Given the description of an element on the screen output the (x, y) to click on. 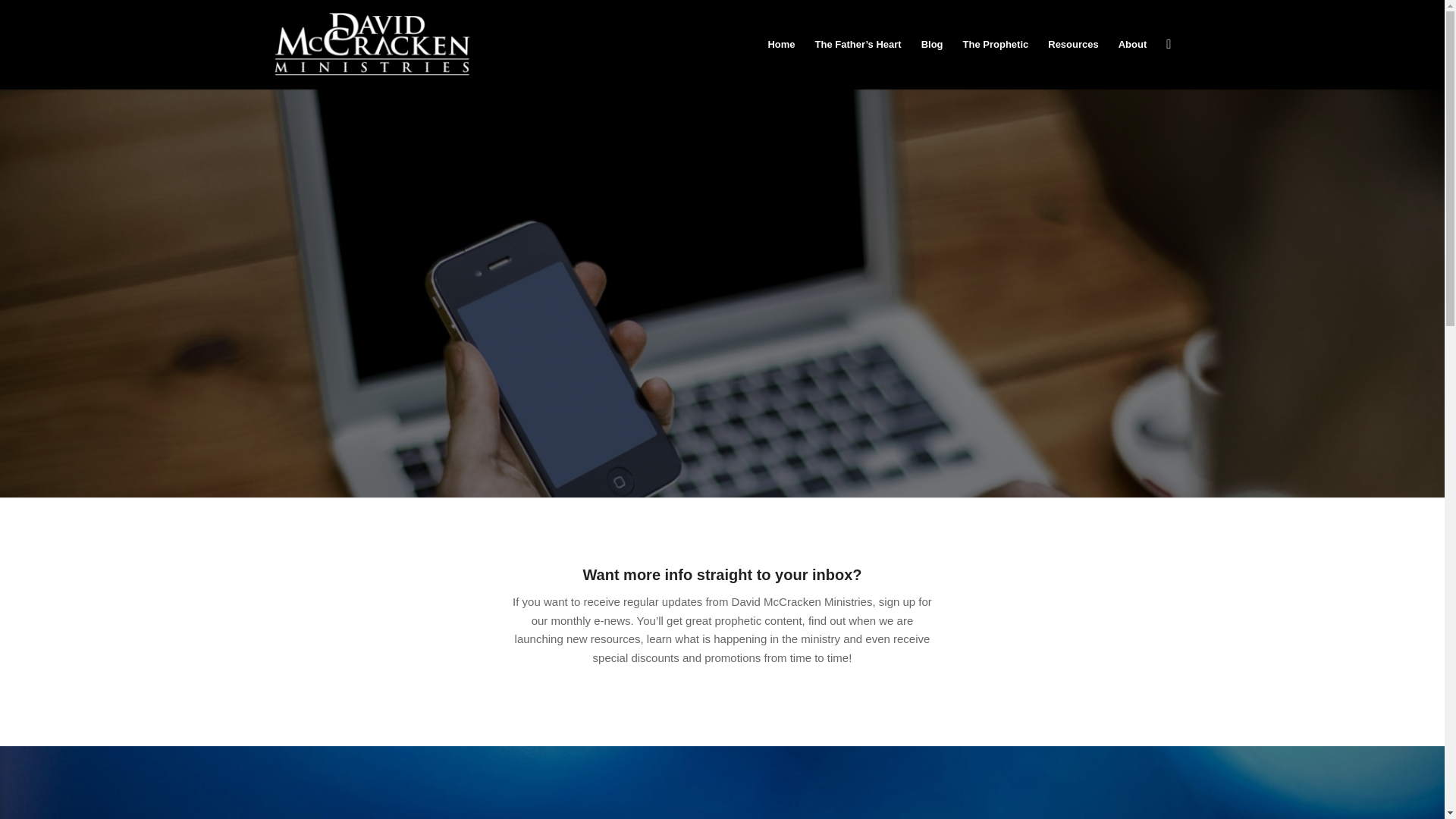
The Prophetic (996, 44)
